Given the description of an element on the screen output the (x, y) to click on. 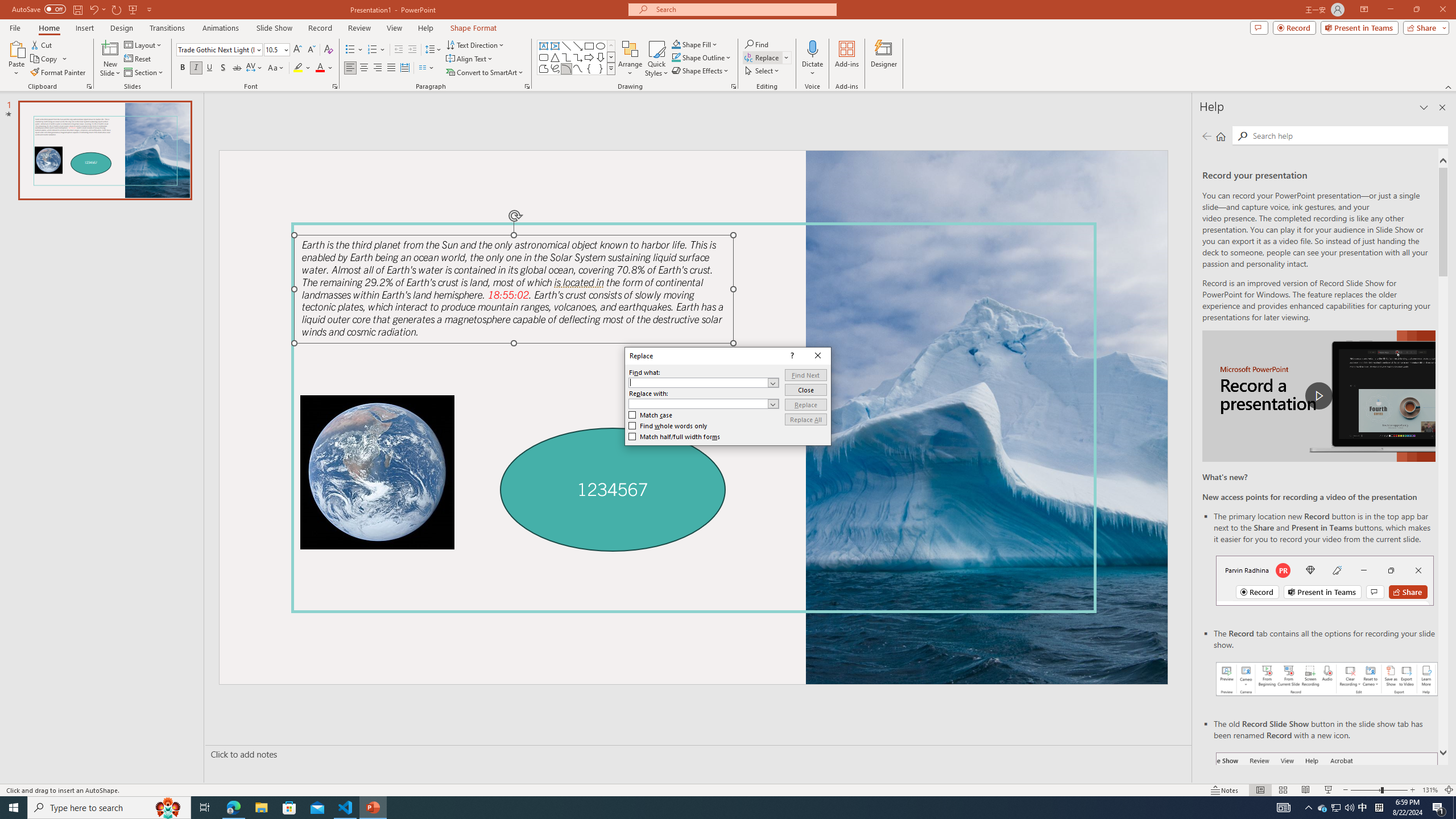
Find whole words only (667, 425)
Record button in top bar (1324, 580)
